Given the description of an element on the screen output the (x, y) to click on. 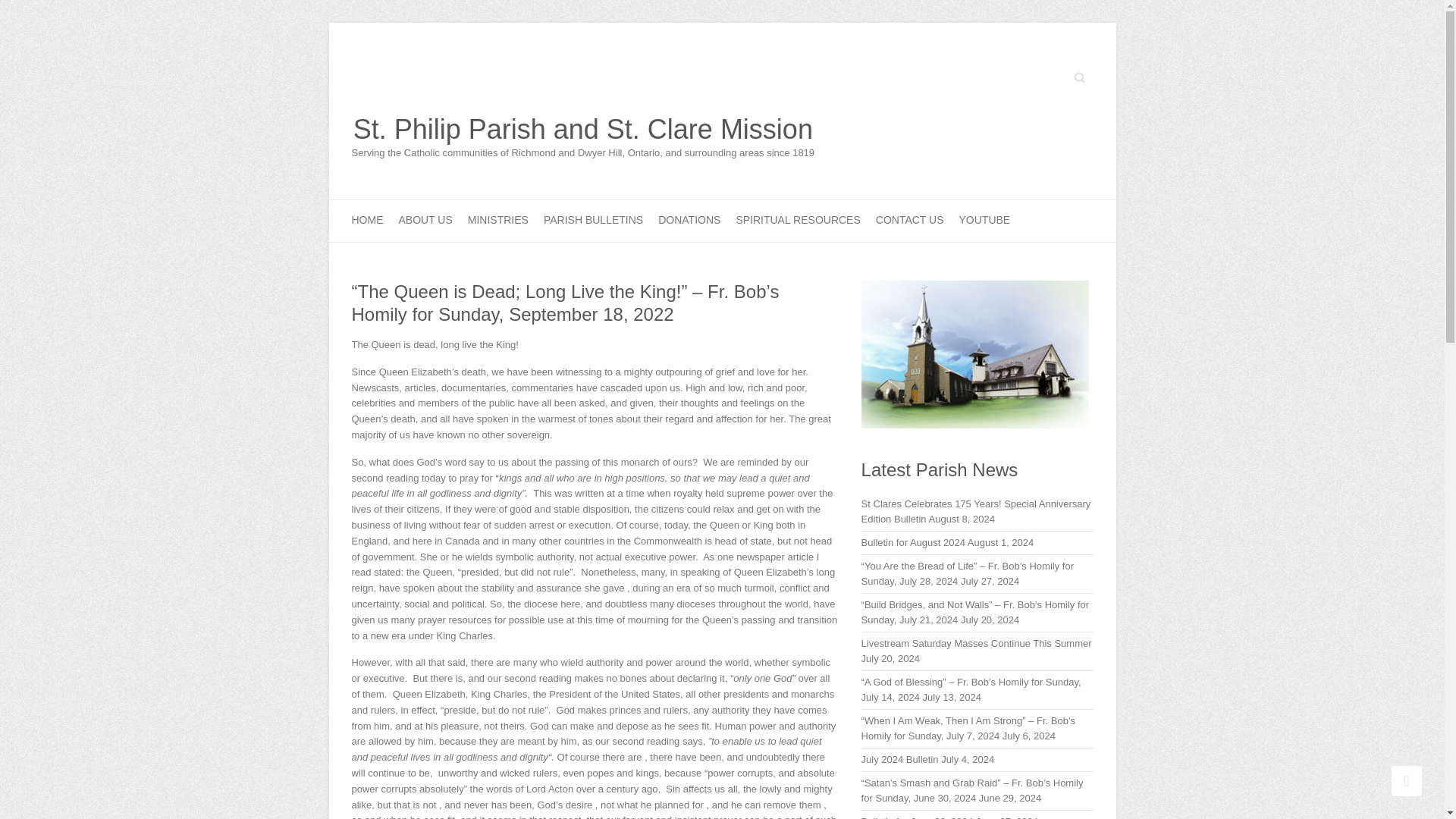
Bulletin for August 2024 (913, 542)
DONATIONS (689, 220)
Bulletin for June 30, 2024 (916, 817)
July 2024 Bulletin (900, 758)
SPIRITUAL RESOURCES (797, 220)
St. Philip Parish and St. Clare Mission (583, 129)
CONTACT US (909, 220)
PARISH BULLETINS (593, 220)
St. Philip Parish and St. Clare Mission (583, 129)
